Given the description of an element on the screen output the (x, y) to click on. 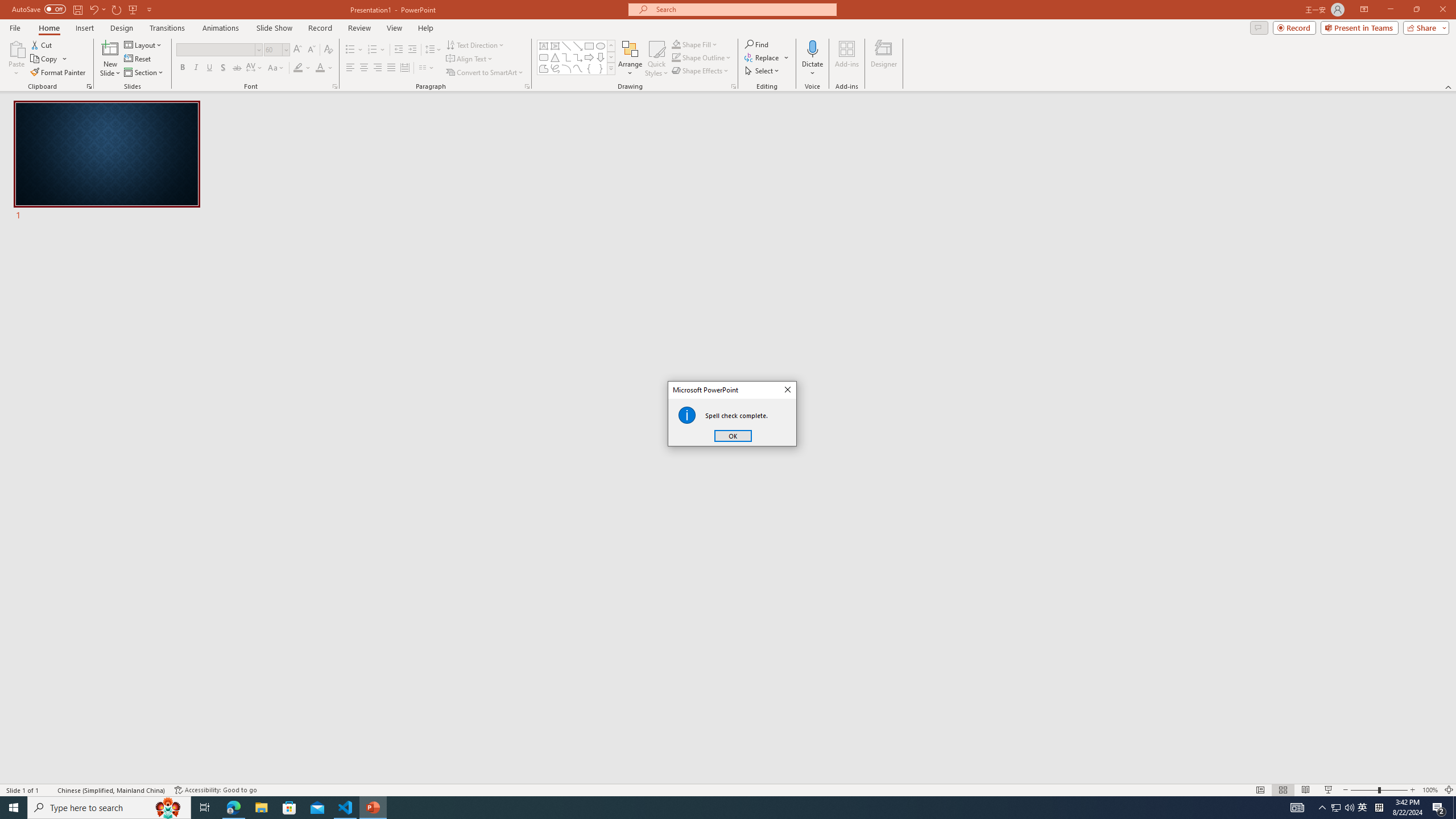
OK (732, 435)
